Given the description of an element on the screen output the (x, y) to click on. 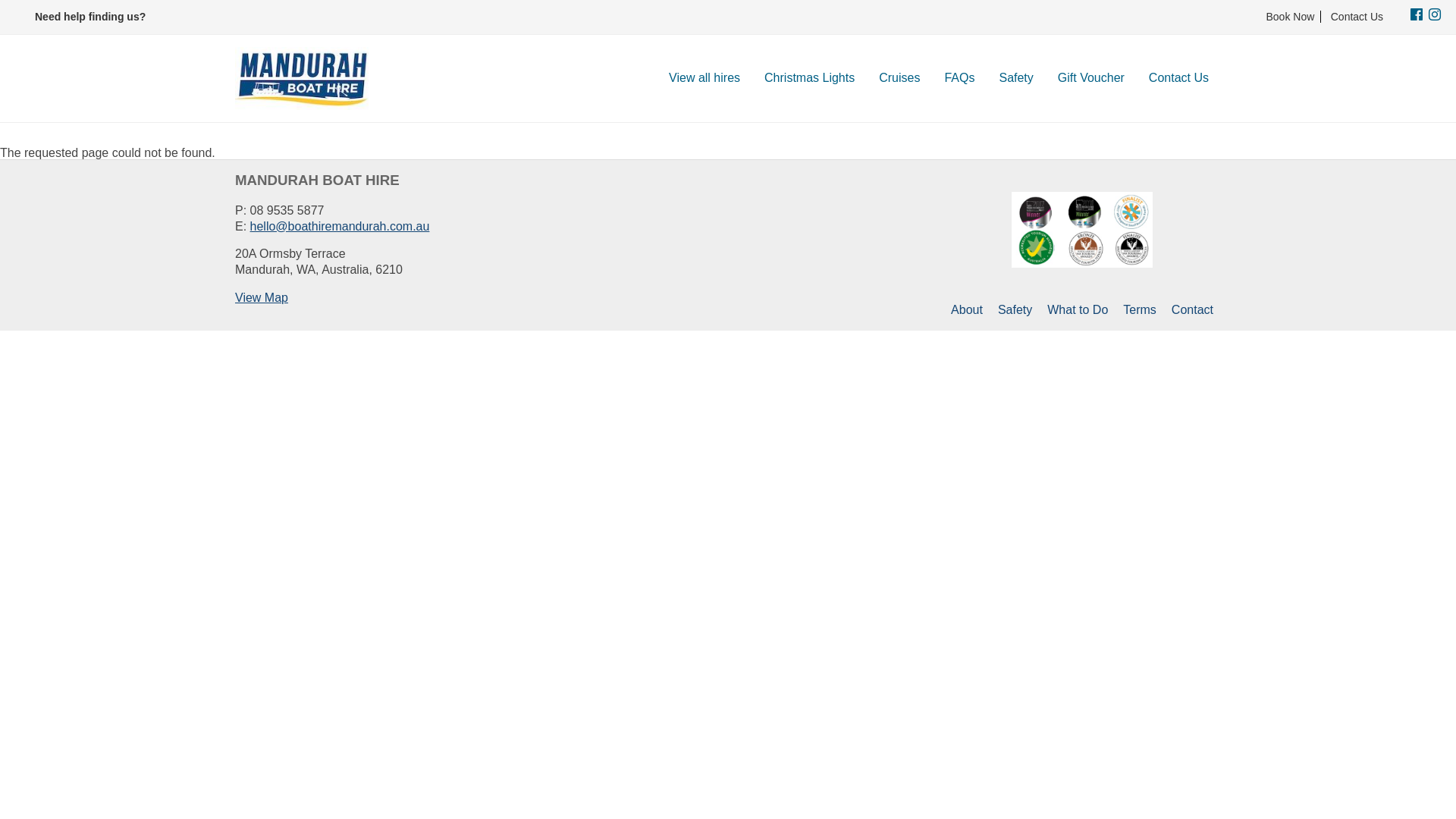
Terms Element type: text (1139, 309)
hello@boathiremandurah.com.au Element type: text (339, 225)
About Element type: text (966, 309)
Contact Us Element type: text (1353, 16)
Safety Element type: text (1015, 78)
View Map Element type: text (261, 297)
Safety Element type: text (1014, 309)
What to Do Element type: text (1077, 309)
Christmas Lights Element type: text (809, 78)
Contact Element type: text (1192, 309)
Home Element type: hover (307, 78)
Skip to main content Element type: text (0, 0)
View all hires Element type: text (704, 78)
Need help finding us? Element type: text (89, 16)
FAQs Element type: text (958, 78)
Gift Voucher Element type: text (1090, 78)
Book Now Element type: text (1290, 16)
Contact Us Element type: text (1178, 78)
Cruises Element type: text (898, 78)
